Given the description of an element on the screen output the (x, y) to click on. 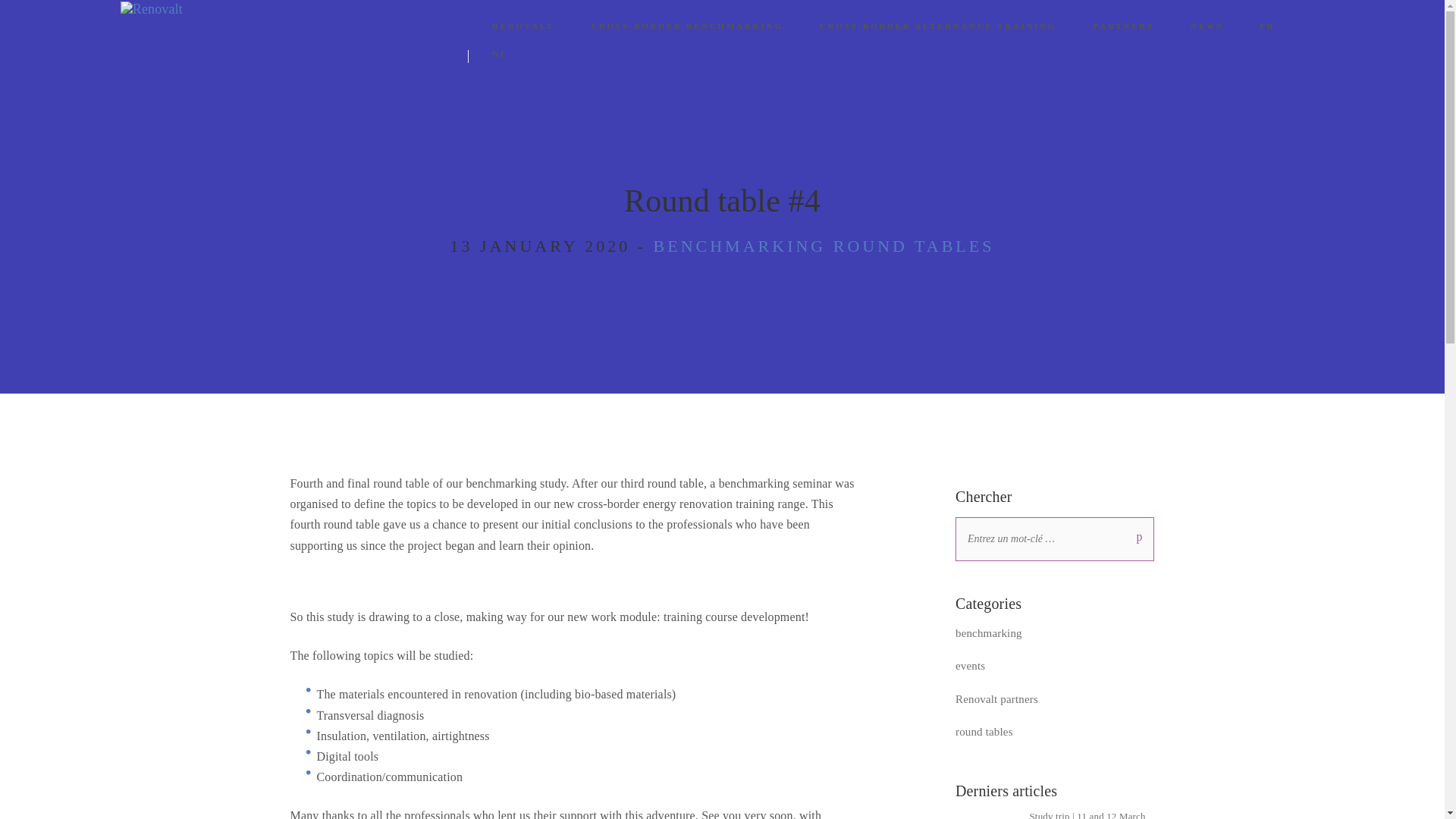
CROSS-BORDER ALTERNANCE TRAINING (938, 26)
NEWS (1206, 26)
RENOVALT (522, 26)
CROSS-BORDER BENCHMARKING (686, 26)
Renovalt partners (996, 700)
PARTNERS (1123, 26)
benchmarking (988, 633)
NL (499, 53)
events (970, 666)
FR (1266, 26)
ROUND TABLES (913, 244)
FR (1266, 26)
NL (499, 53)
BENCHMARKING (740, 244)
round tables (984, 732)
